Given the description of an element on the screen output the (x, y) to click on. 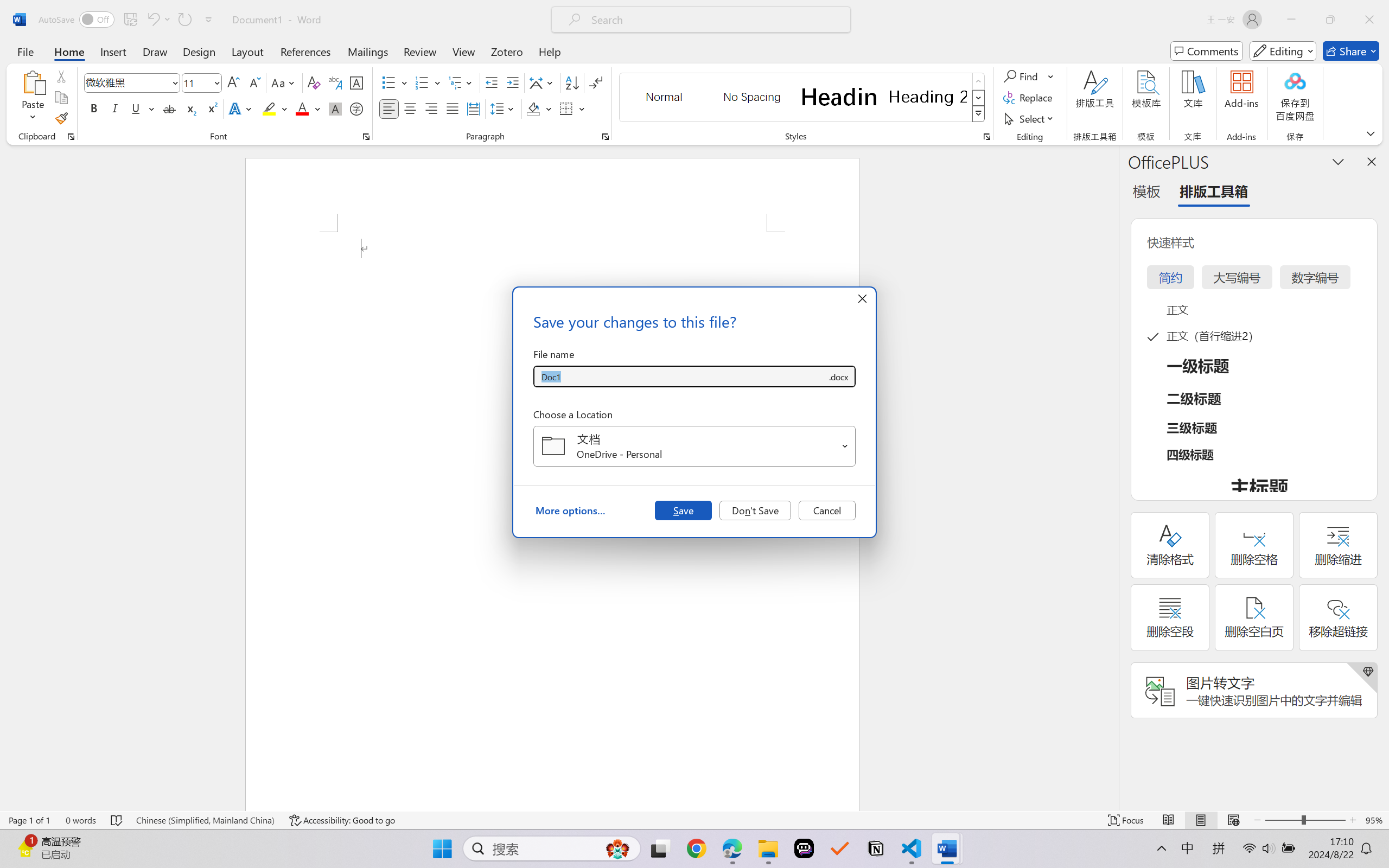
Undo <ApplyStyleToDoc>b__0 (158, 19)
